Given the description of an element on the screen output the (x, y) to click on. 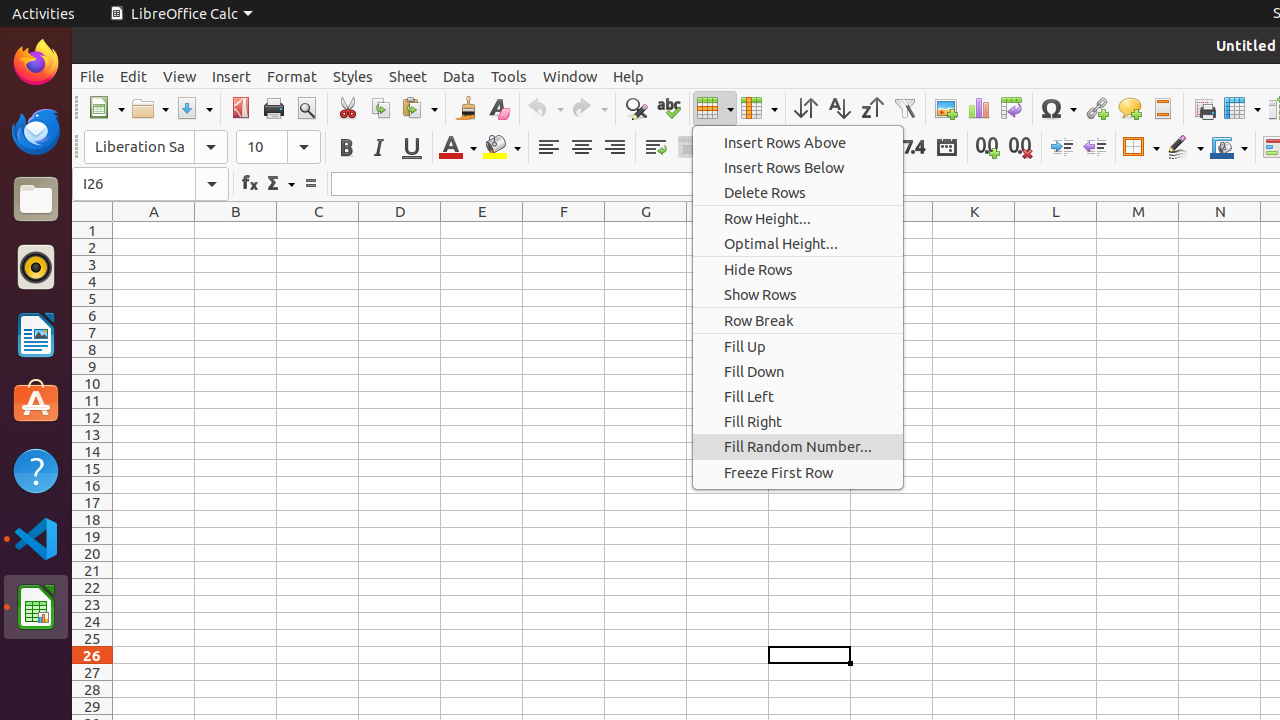
IsaHelpMain.desktop Element type: label (133, 300)
Activities Element type: label (43, 13)
li.txt Element type: label (259, 89)
